Given the description of an element on the screen output the (x, y) to click on. 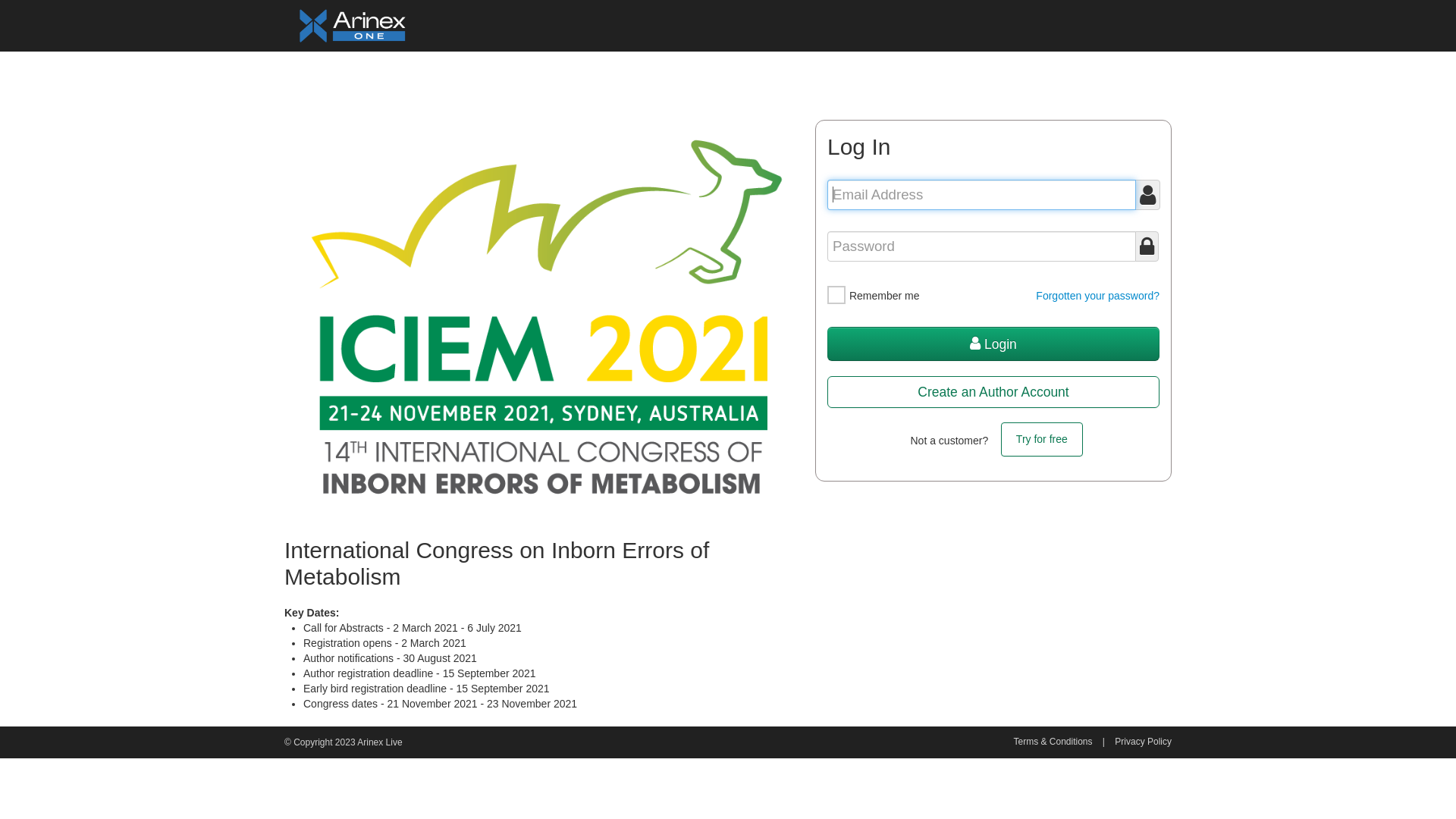
Privacy Policy Element type: text (1142, 741)
Forgotten your password? Element type: text (1097, 295)
Login Element type: text (993, 343)
Try for free Element type: text (1041, 439)
Terms & Conditions Element type: text (1052, 741)
Create an Author Account Element type: text (993, 391)
